Given the description of an element on the screen output the (x, y) to click on. 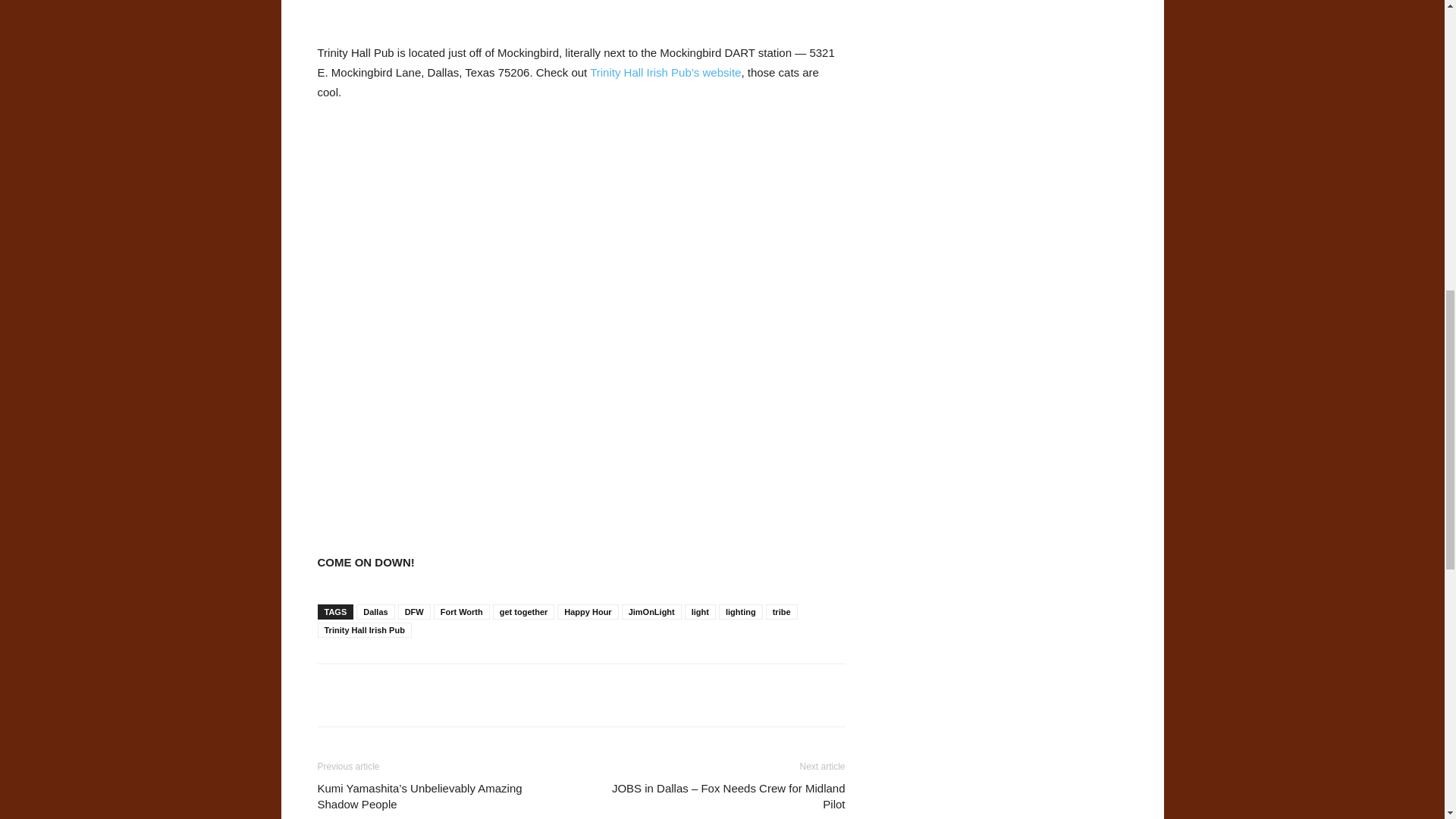
get together (523, 611)
DFW (413, 611)
Dallas (375, 611)
Fort Worth (461, 611)
